Given the description of an element on the screen output the (x, y) to click on. 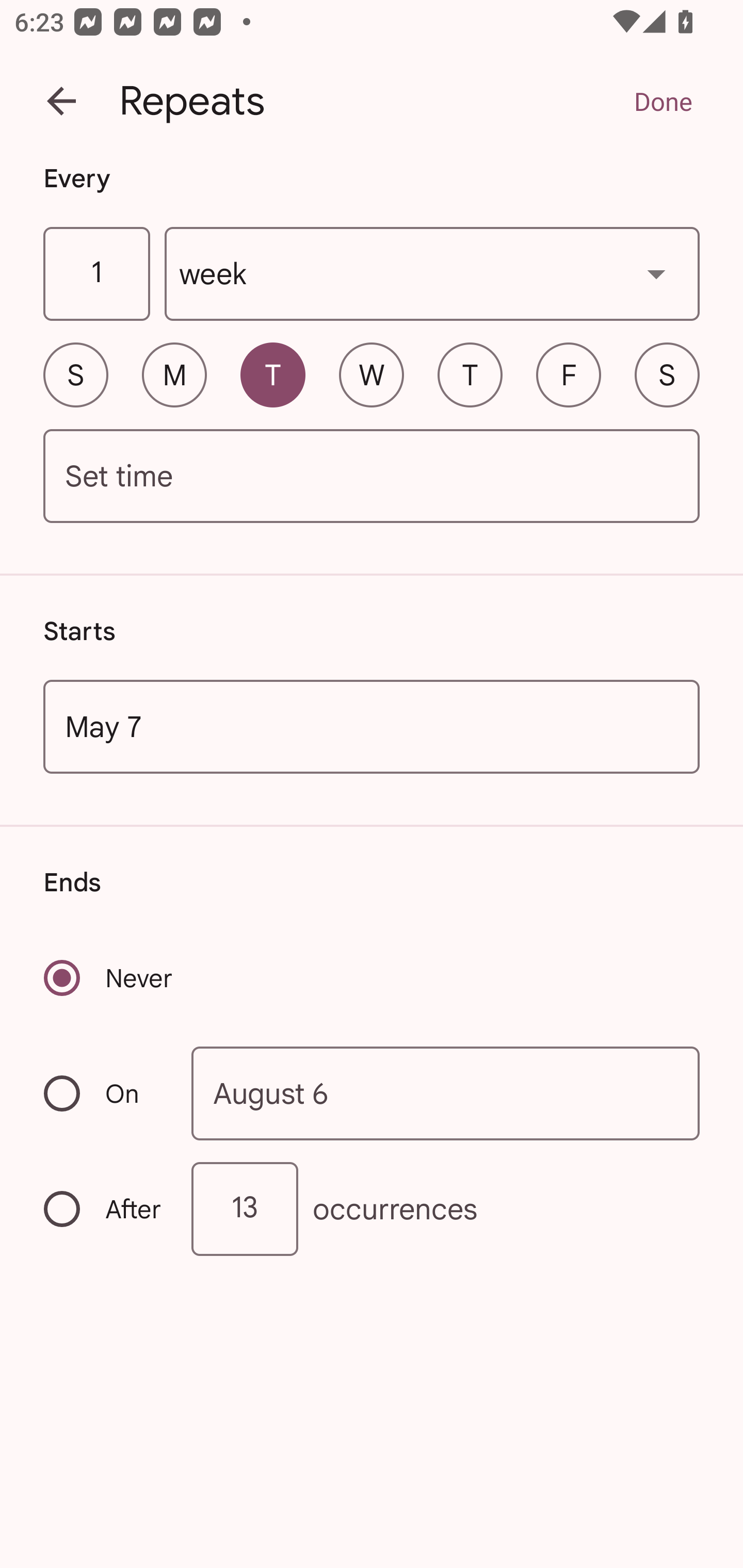
Back (61, 101)
Done (663, 101)
1 (96, 274)
week (431, 274)
Show dropdown menu (655, 273)
S Sunday (75, 374)
M Monday (173, 374)
T Tuesday, selected (272, 374)
W Wednesday (371, 374)
T Thursday (469, 374)
F Friday (568, 374)
S Saturday (666, 374)
Set time (371, 476)
May 7 (371, 726)
Never Recurrence never ends (109, 978)
August 6 (445, 1092)
On Recurrence ends on a specific date (104, 1093)
13 (244, 1208)
